Given the description of an element on the screen output the (x, y) to click on. 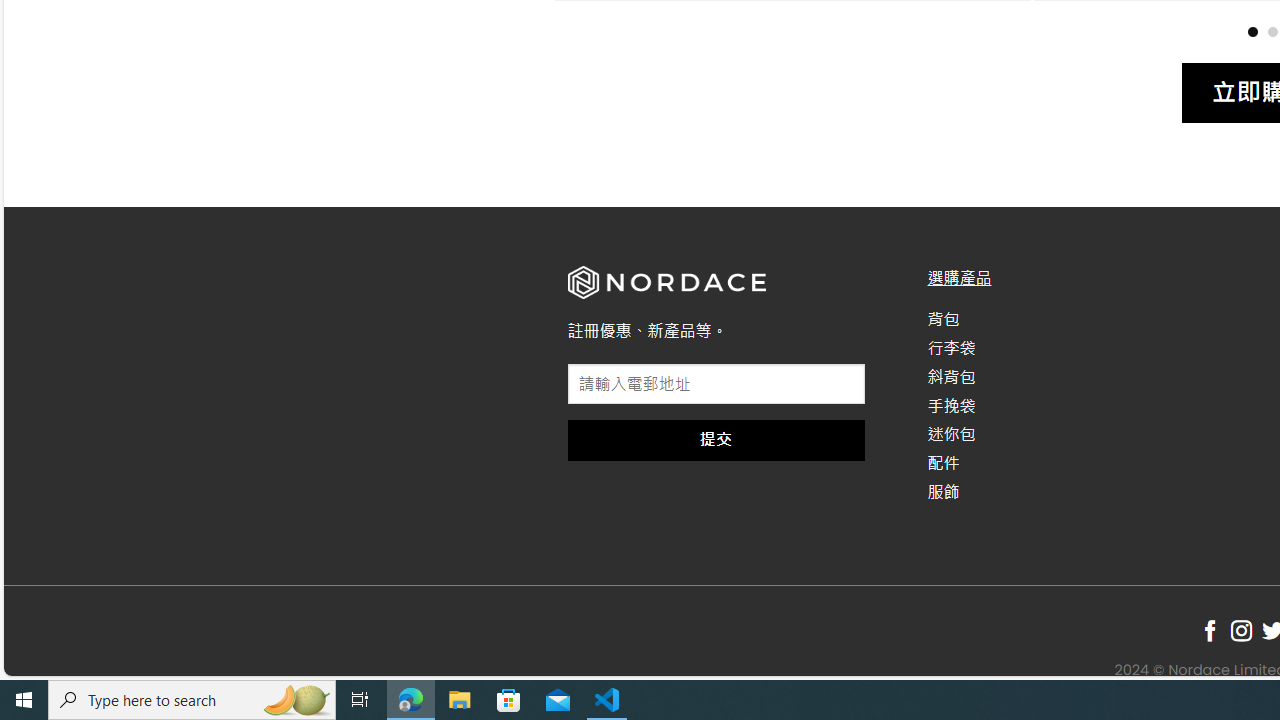
AutomationID: field_4_1 (716, 386)
Page dot 1 (1252, 30)
Page dot 2 (1272, 30)
Follow on Instagram (1241, 631)
AutomationID: input_4_1 (716, 384)
